Given the description of an element on the screen output the (x, y) to click on. 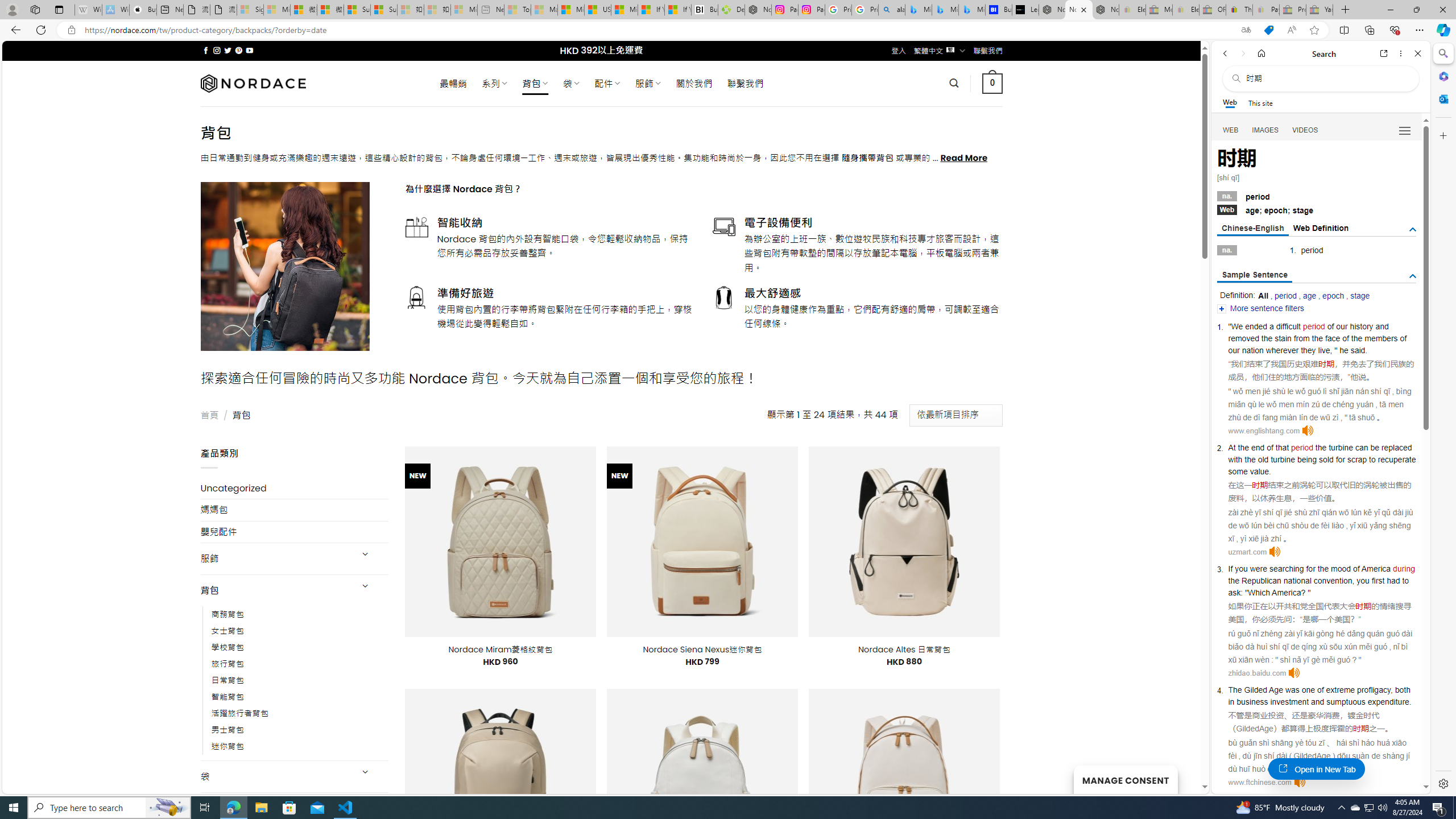
had (1393, 580)
Microsoft account | Account Checkup - Sleeping (463, 9)
Outlook (1442, 98)
Read More (964, 157)
face (1332, 338)
period (1302, 447)
Workspaces (34, 9)
Personal Profile (12, 9)
